Given the description of an element on the screen output the (x, y) to click on. 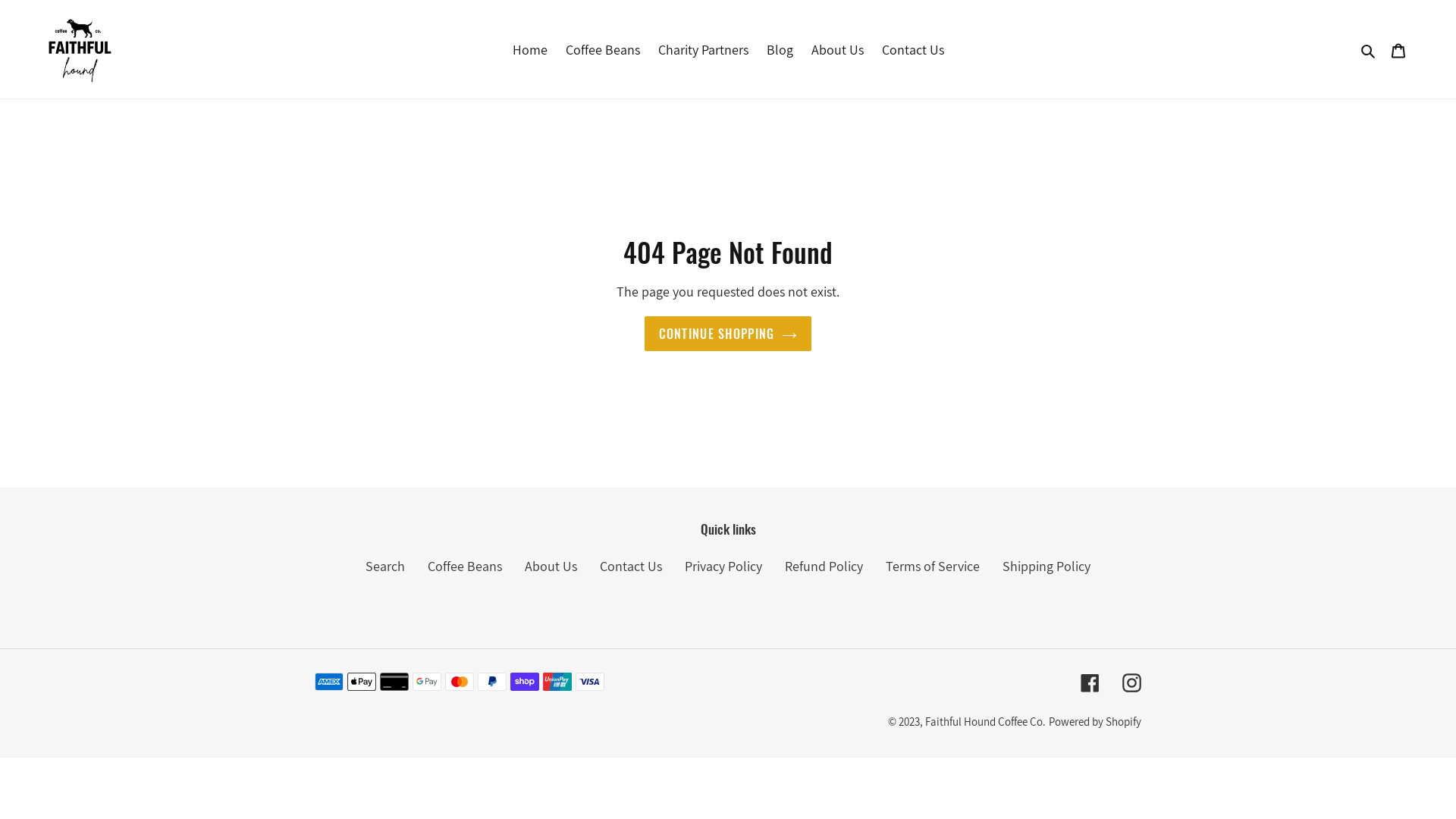
Faithful Hound Coffee Co. Element type: text (985, 721)
Contact Us Element type: text (911, 48)
Charity Partners Element type: text (703, 48)
Home Element type: text (530, 48)
Powered by Shopify Element type: text (1094, 721)
Coffee Beans Element type: text (464, 565)
Coffee Beans Element type: text (602, 48)
Search Element type: text (1368, 48)
About Us Element type: text (837, 48)
Instagram Element type: text (1131, 681)
Search Element type: text (384, 565)
Privacy Policy Element type: text (723, 565)
Refund Policy Element type: text (823, 565)
Facebook Element type: text (1089, 681)
Contact Us Element type: text (630, 565)
Terms of Service Element type: text (932, 565)
Blog Element type: text (779, 48)
Cart Element type: text (1398, 49)
CONTINUE SHOPPING Element type: text (728, 333)
Shipping Policy Element type: text (1046, 565)
About Us Element type: text (550, 565)
